Given the description of an element on the screen output the (x, y) to click on. 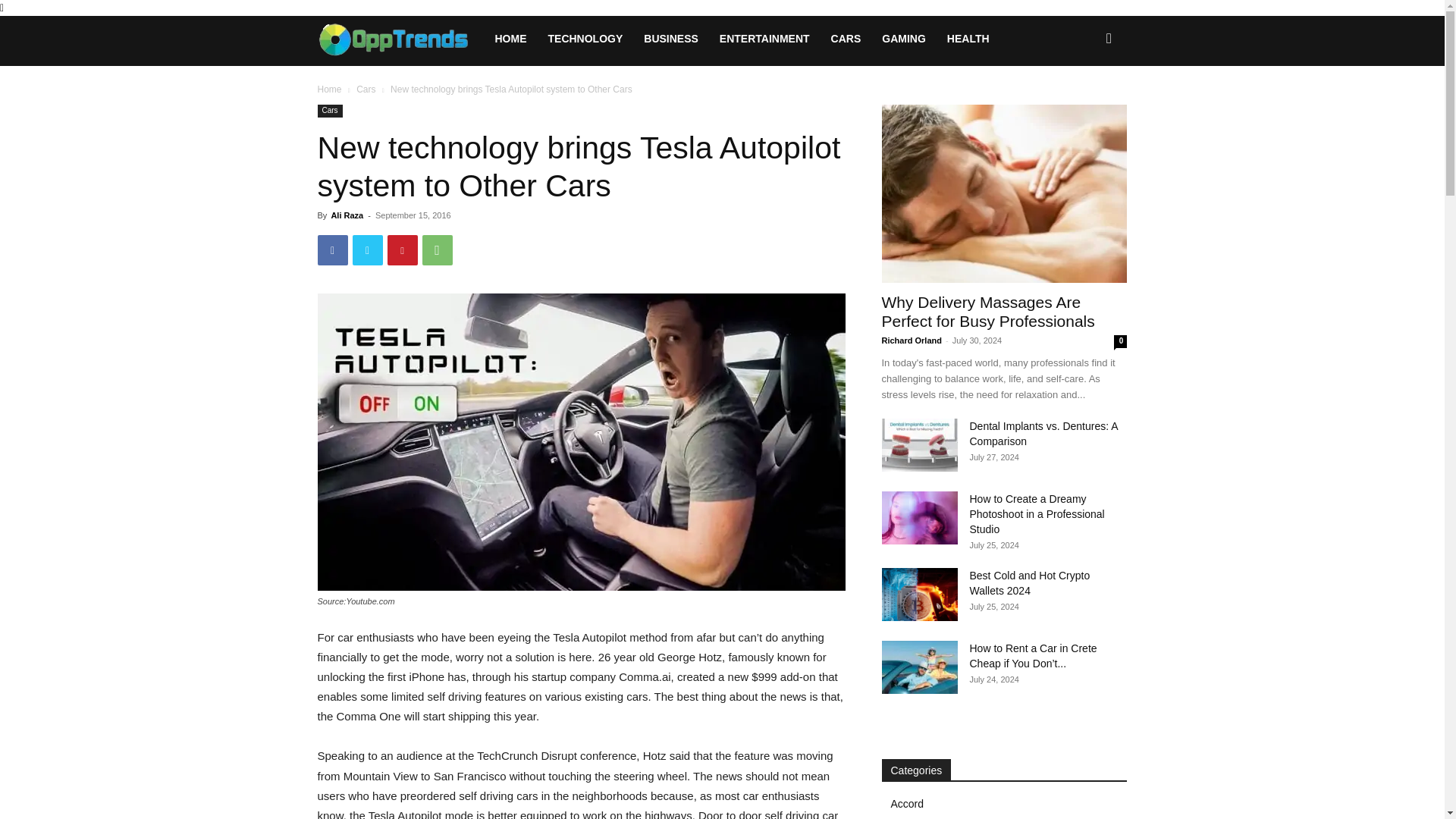
TECHNOLOGY (585, 38)
WhatsApp (436, 250)
CARS (846, 38)
Search (1085, 103)
HOME (510, 38)
Opptrends 2024 (400, 38)
HEALTH (968, 38)
Cars (329, 110)
ENTERTAINMENT (765, 38)
Home (328, 89)
Pinterest (401, 250)
Twitter (366, 250)
Facebook (332, 250)
Ali Raza (346, 215)
